Given the description of an element on the screen output the (x, y) to click on. 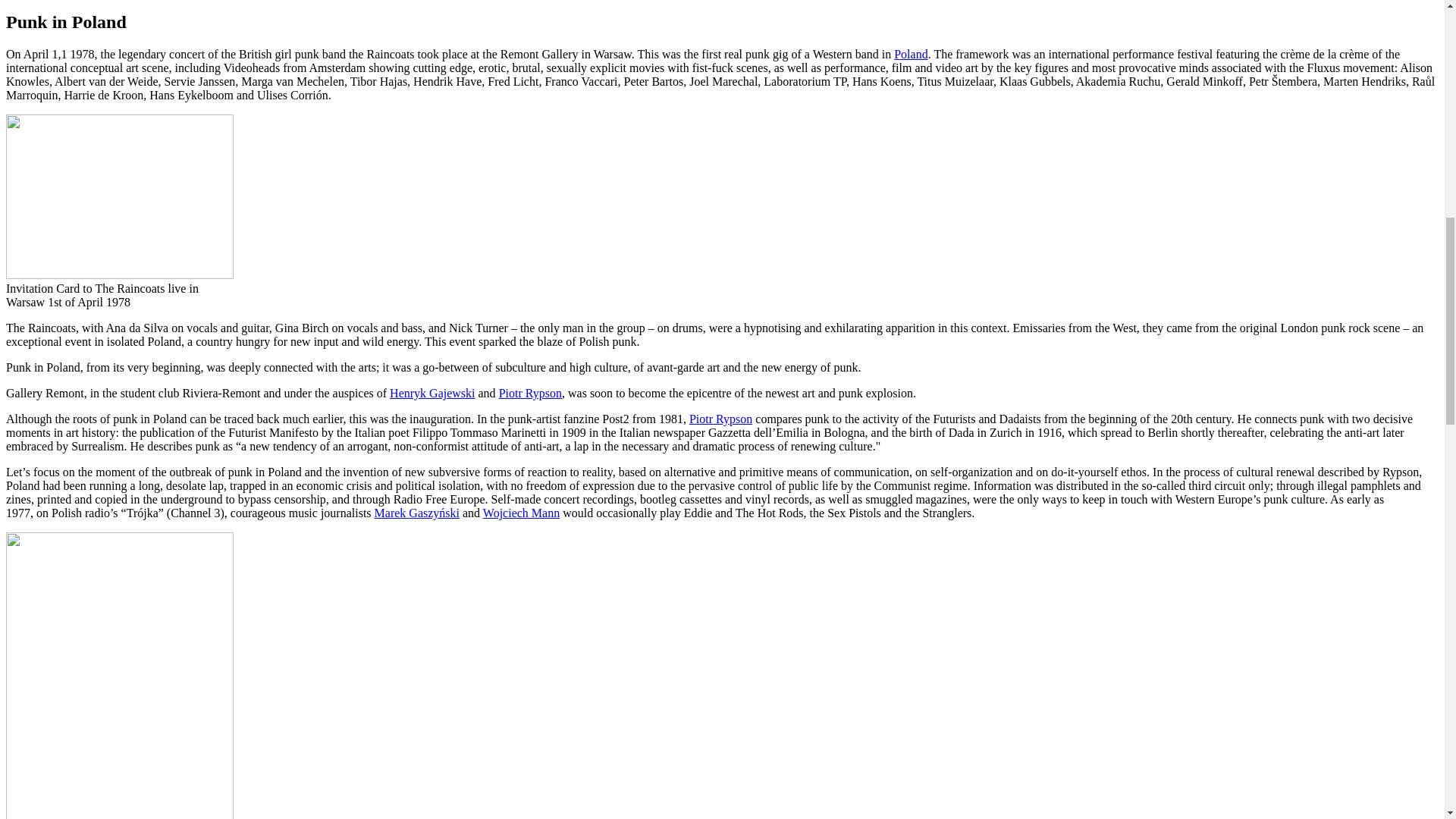
Poland (910, 53)
Henryk Gajewski (432, 392)
Piotr Rypson (530, 392)
Piotr Rypson (720, 418)
